Given the description of an element on the screen output the (x, y) to click on. 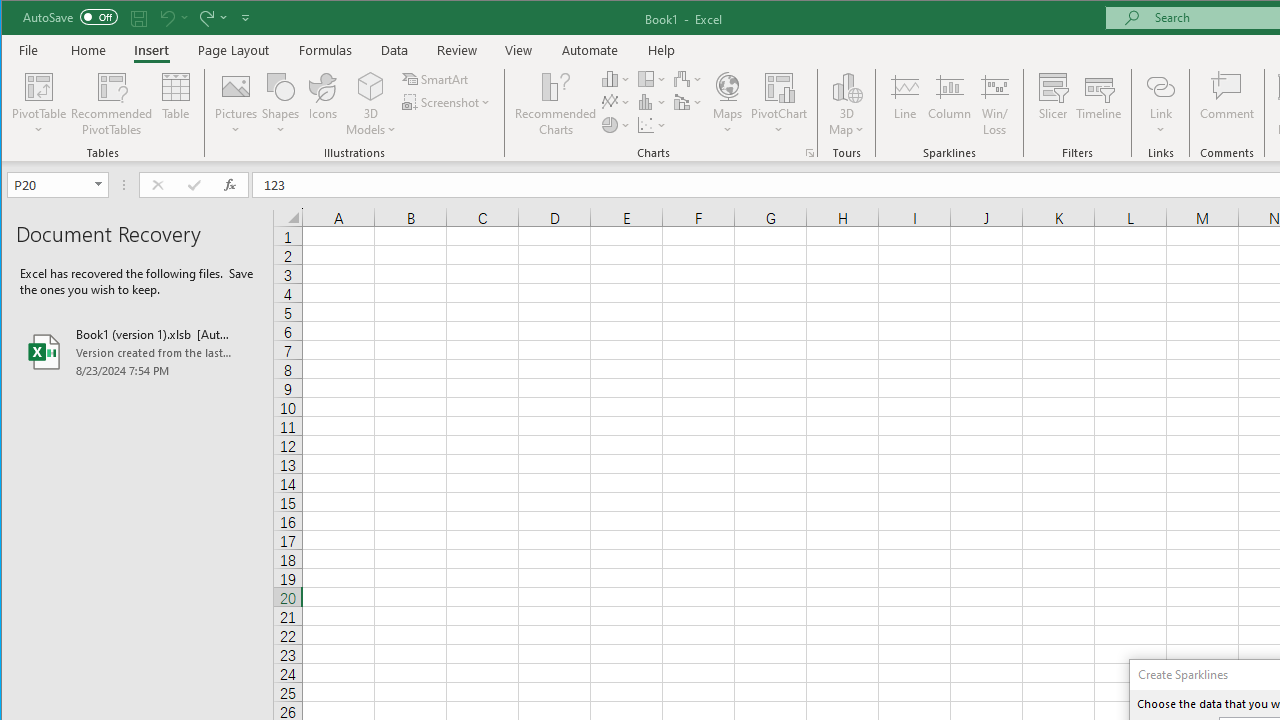
PivotTable (39, 104)
PivotChart (779, 104)
Timeline (1098, 104)
Insert Statistic Chart (652, 101)
Insert Line or Area Chart (616, 101)
Insert Waterfall, Funnel, Stock, Surface, or Radar Chart (688, 78)
Insert Pie or Doughnut Chart (616, 124)
Open (99, 184)
Insert Combo Chart (688, 101)
Quick Access Toolbar (137, 17)
Win/Loss (995, 104)
Line (904, 104)
Save (139, 17)
